Given the description of an element on the screen output the (x, y) to click on. 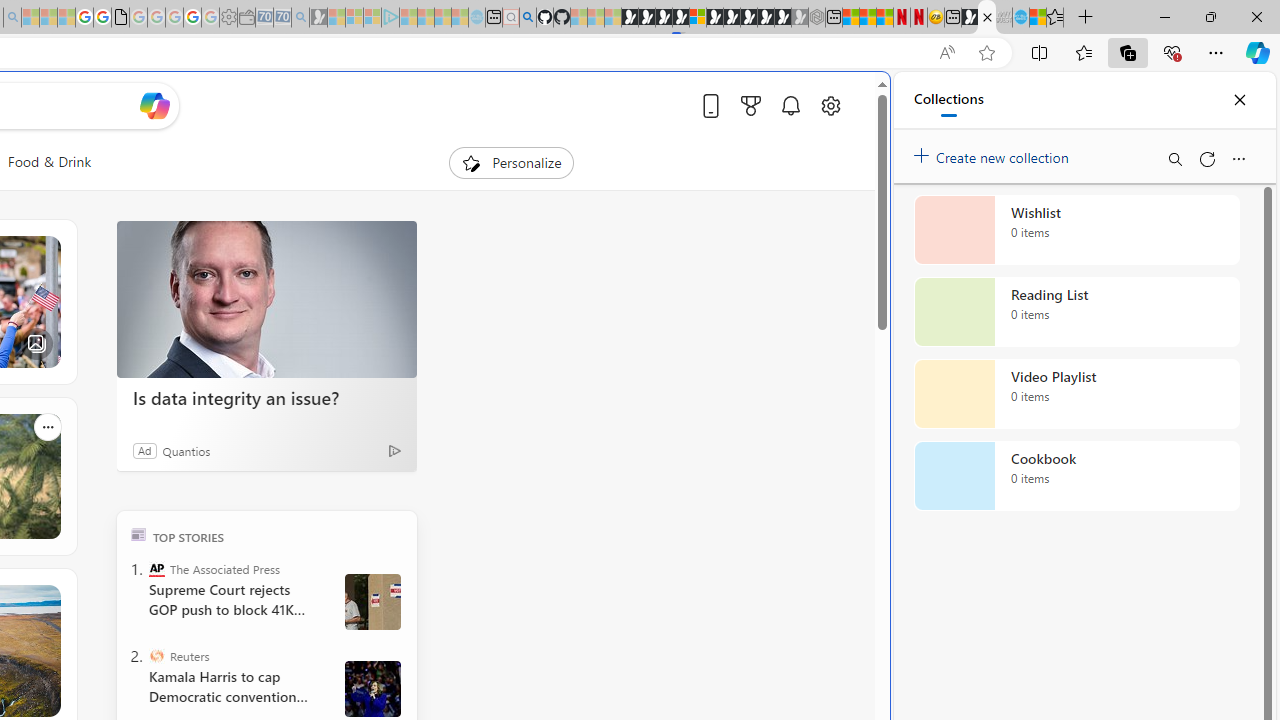
More options menu (1238, 158)
Create new collection (994, 153)
github - Search (527, 17)
